Given the description of an element on the screen output the (x, y) to click on. 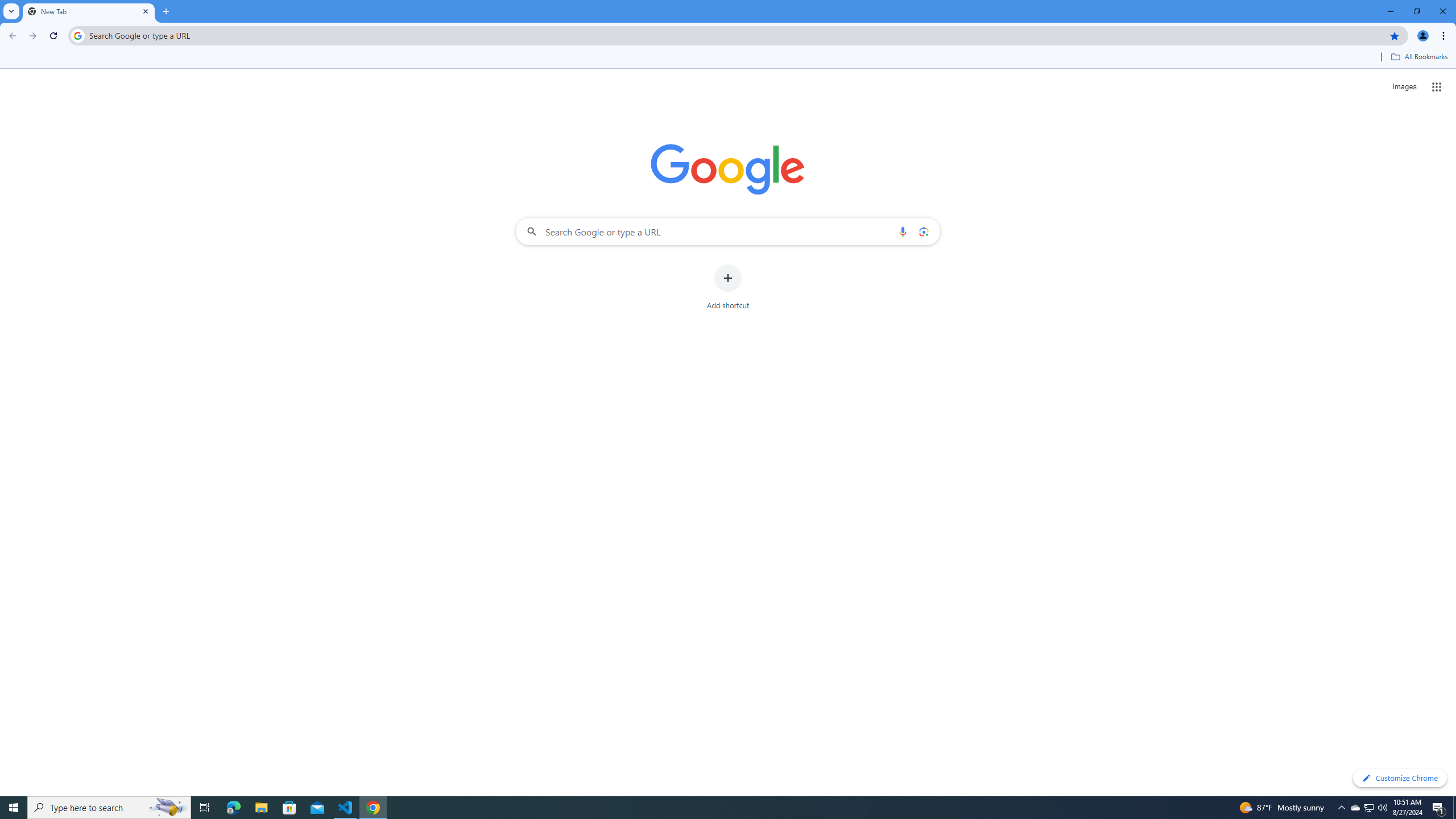
New Tab (88, 11)
Bookmarks (728, 58)
Add shortcut (727, 287)
